Given the description of an element on the screen output the (x, y) to click on. 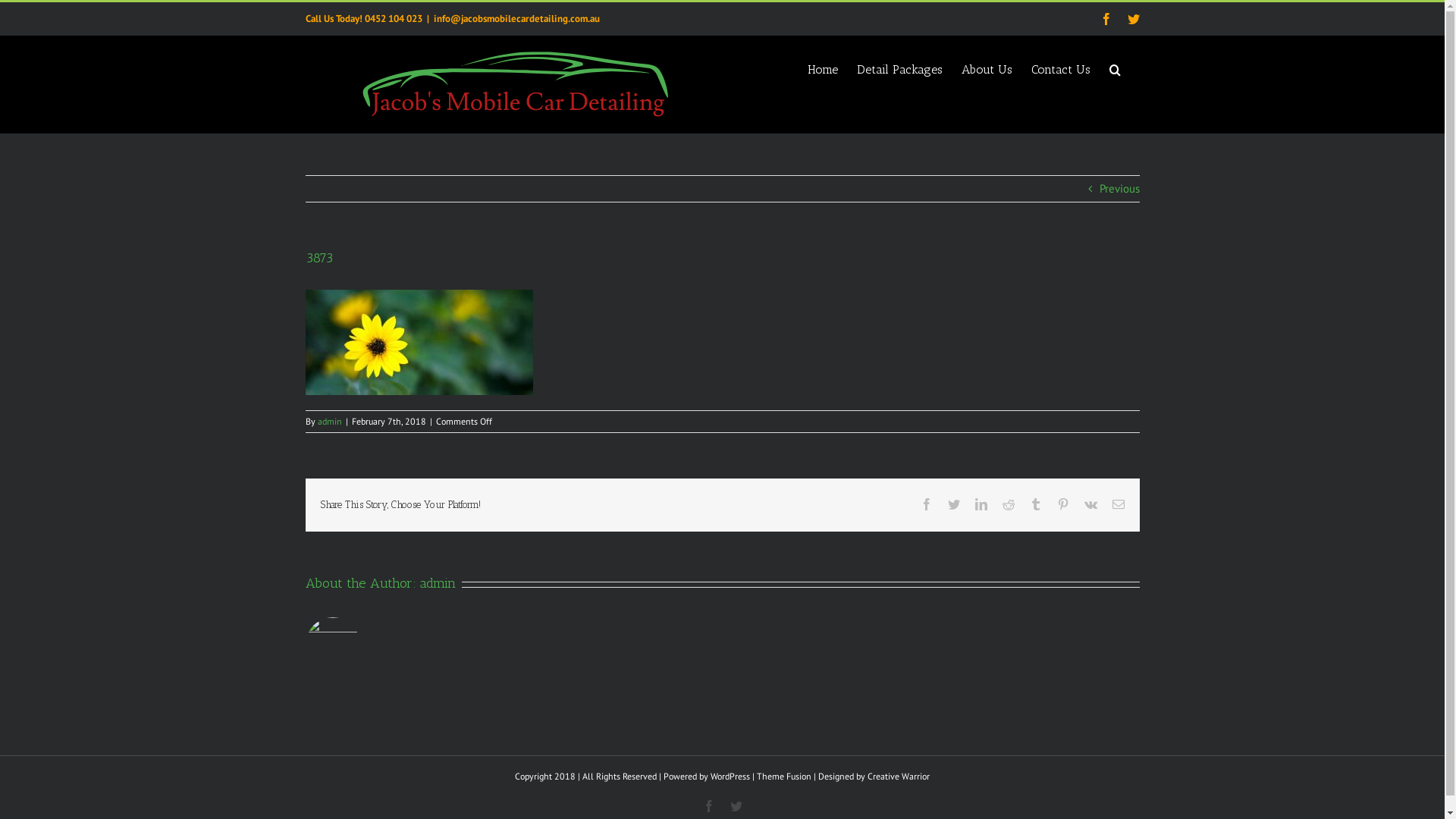
admin Element type: text (437, 582)
WordPress Element type: text (729, 775)
Twitter Element type: text (1132, 18)
Detail Packages Element type: text (899, 68)
Email Element type: text (1117, 504)
Twitter Element type: text (735, 806)
Facebook Element type: text (708, 806)
Tumblr Element type: text (1035, 504)
Home Element type: text (821, 68)
Search Element type: hover (1114, 68)
About Us Element type: text (986, 68)
Contact Us Element type: text (1060, 68)
Facebook Element type: text (926, 504)
Previous Element type: text (1119, 188)
Designed by Creative Warrior Element type: text (873, 775)
Facebook Element type: text (1105, 18)
info@jacobsmobilecardetailing.com.au Element type: text (516, 18)
LinkedIn Element type: text (981, 504)
admin Element type: text (328, 420)
Reddit Element type: text (1008, 504)
Twitter Element type: text (953, 504)
Vk Element type: text (1090, 504)
Theme Fusion Element type: text (783, 775)
Pinterest Element type: text (1063, 504)
